Given the description of an element on the screen output the (x, y) to click on. 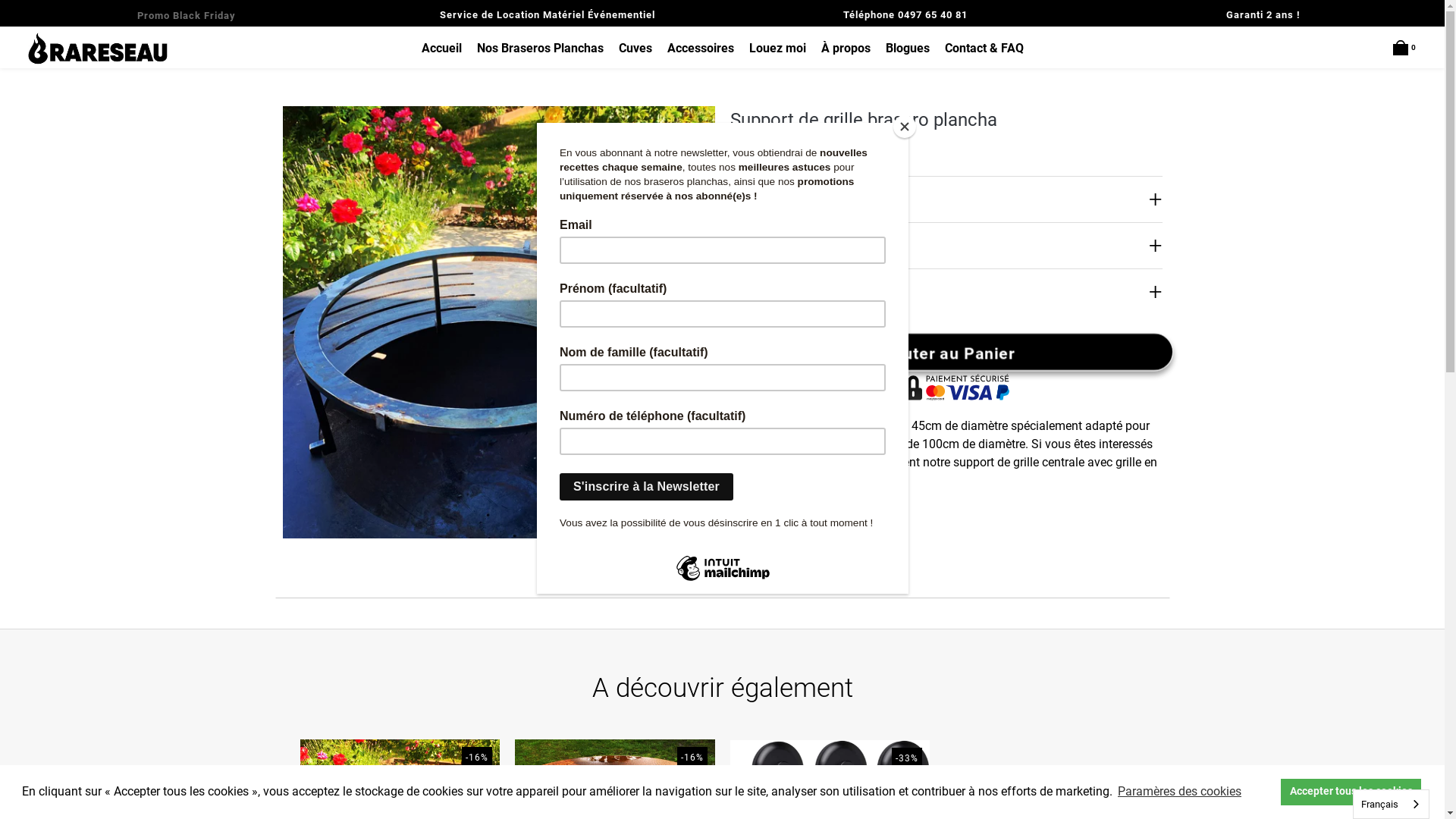
Nos Braseros Planchas Element type: text (539, 48)
Livraison OFFERTE Element type: text (945, 198)
Cuves Element type: text (635, 48)
0 Element type: text (1404, 47)
Accepter tous les cookies Element type: text (1350, 791)
Accessoires Element type: text (700, 48)
Blogues Element type: text (907, 48)
Louez moi Element type: text (777, 48)
Accueil Element type: text (441, 48)
Contact & FAQ Element type: text (984, 48)
Ajouter au Panier Element type: text (945, 351)
